Given the description of an element on the screen output the (x, y) to click on. 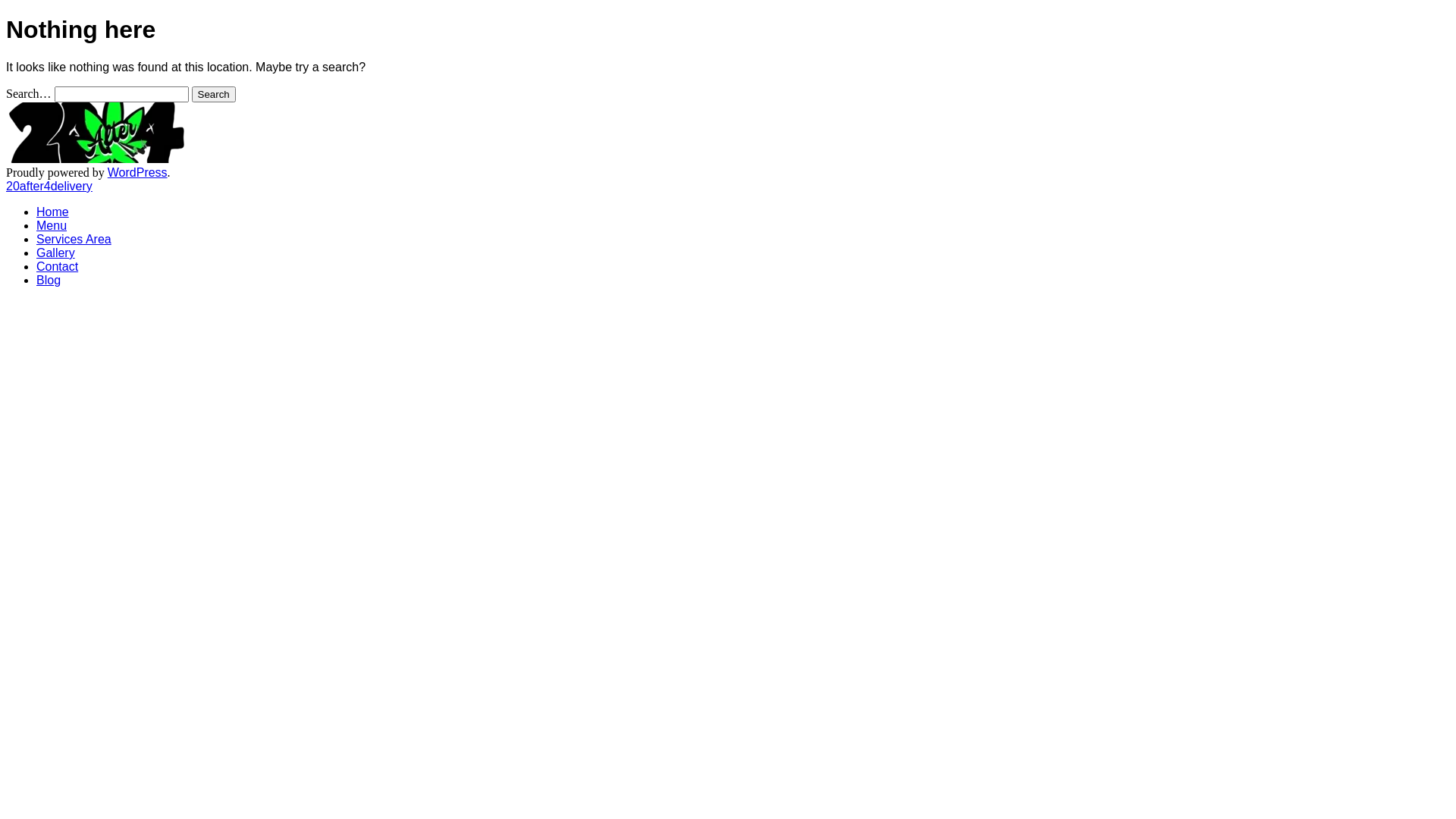
Contact Element type: text (57, 266)
Blog Element type: text (48, 279)
Gallery Element type: text (55, 252)
Menu Element type: text (51, 225)
Home Element type: text (52, 211)
Services Area Element type: text (73, 238)
20after4delivery Element type: text (49, 185)
Search Element type: text (213, 94)
WordPress Element type: text (137, 172)
